Given the description of an element on the screen output the (x, y) to click on. 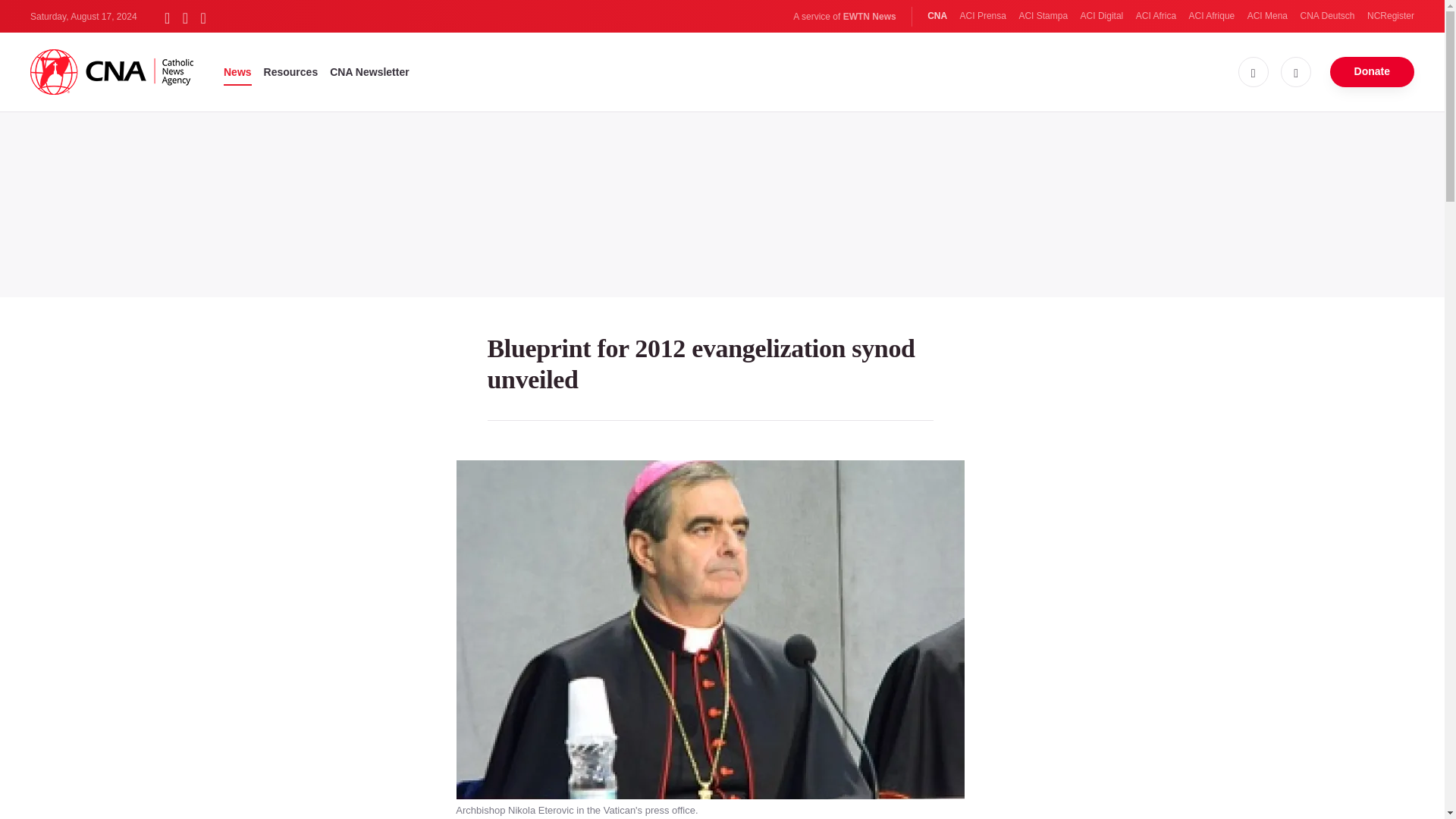
ACI Digital (1102, 16)
EWTN News (869, 16)
EWTN News (869, 16)
CNA Deutsch (1327, 16)
NCRegister (1390, 16)
ACI Africa (1155, 16)
ACI Afrique (1211, 16)
ACI Stampa (1042, 16)
Resources (290, 71)
News (237, 71)
